Given the description of an element on the screen output the (x, y) to click on. 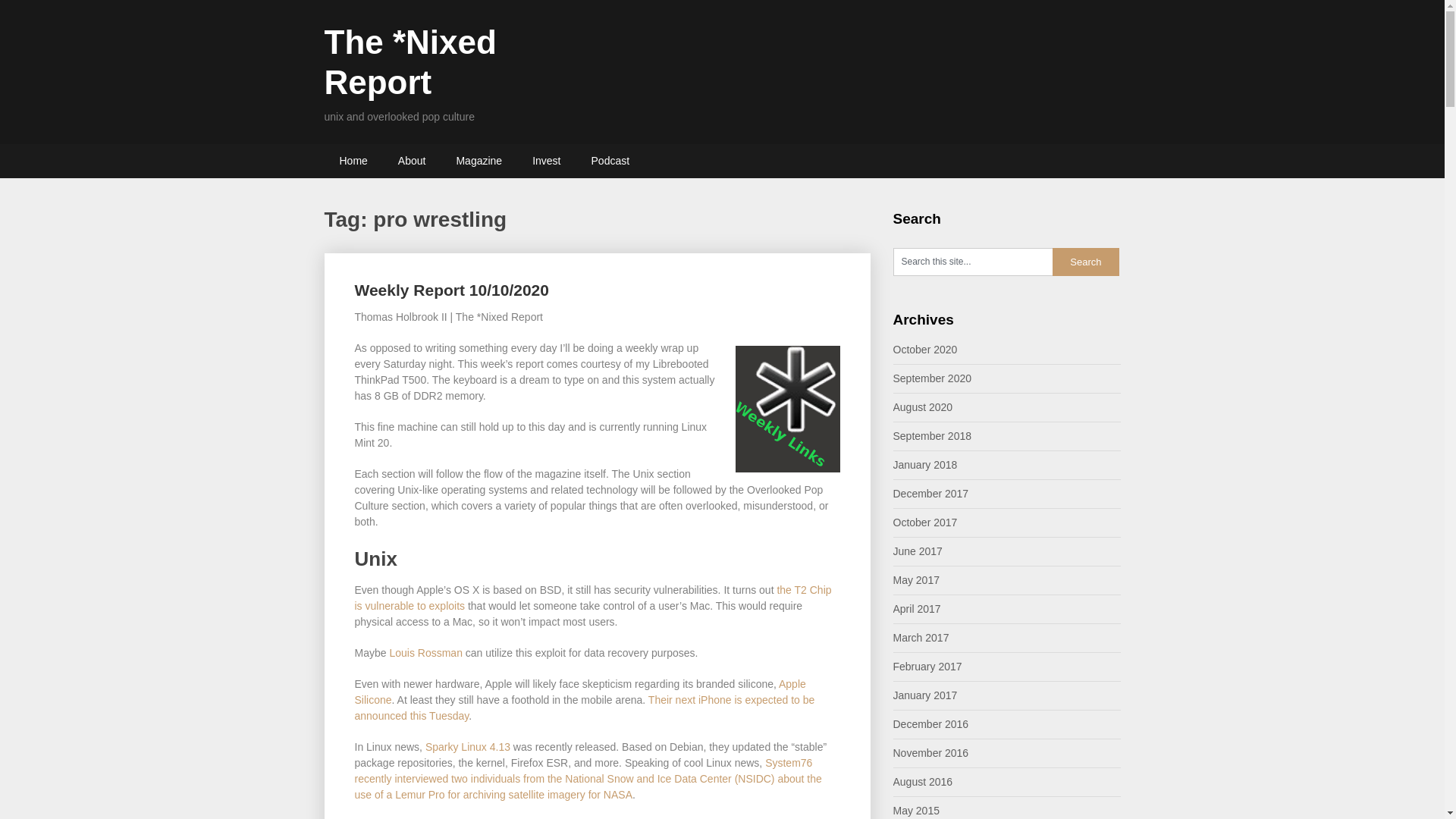
Apple Silicone (580, 691)
About (411, 161)
Louis Rossman (425, 653)
Sparky Linux 4.13 (468, 746)
Search (1085, 262)
Their next iPhone is expected to be announced this Tuesday (585, 707)
the T2 Chip is vulnerable to exploits (593, 597)
Magazine (478, 161)
Podcast (610, 161)
Invest (545, 161)
Home (353, 161)
Home (353, 161)
Magazine (478, 161)
Podcast (610, 161)
Search this site... (972, 262)
